Given the description of an element on the screen output the (x, y) to click on. 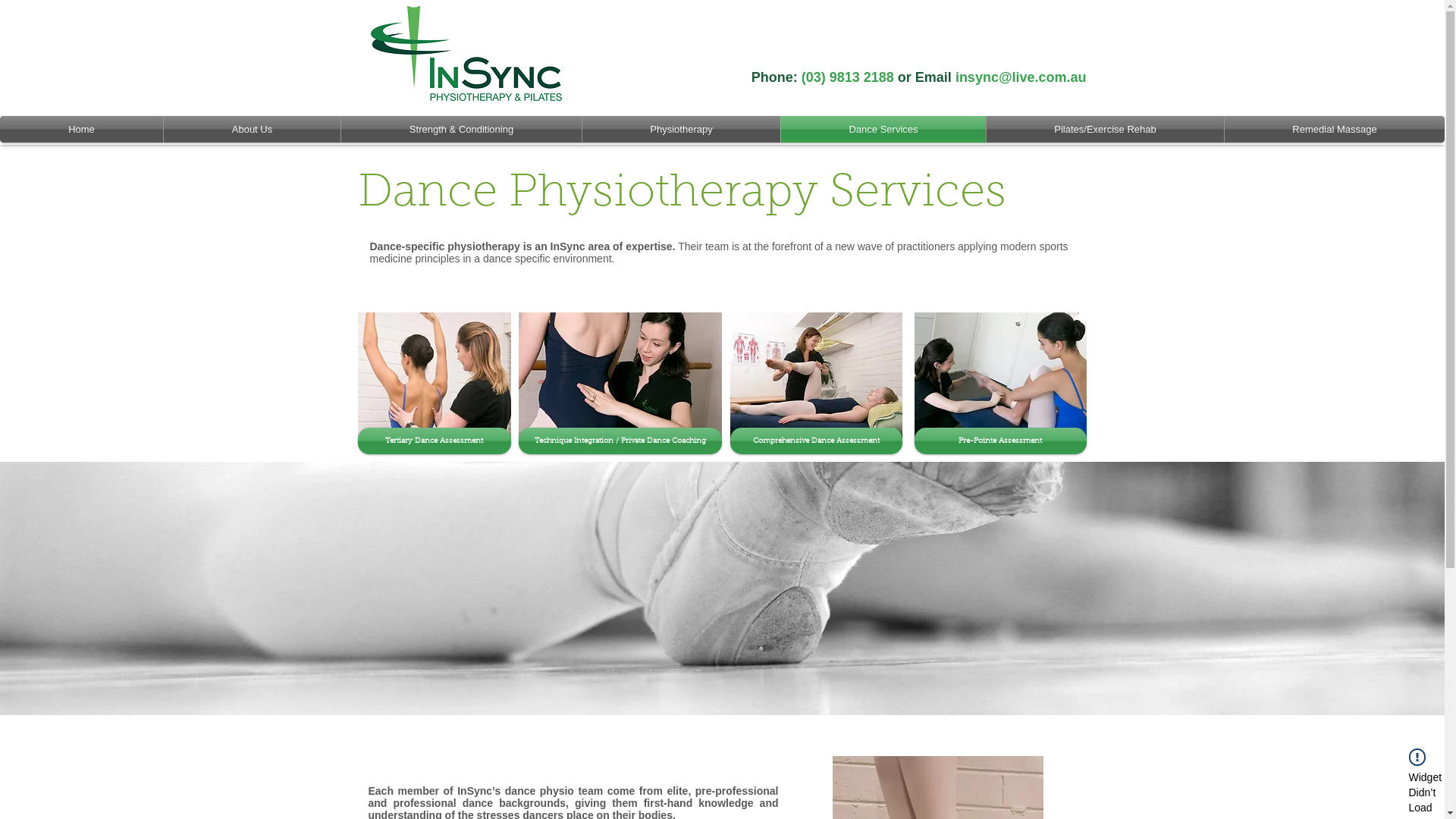
Remedial Massage Element type: text (1334, 129)
Physiotherapy Element type: text (681, 129)
Pre-Pointe Assessment Element type: text (1000, 440)
Home Element type: text (81, 129)
Technique Integration / Private Dance Coaching Element type: text (619, 440)
Comprehensive Dance Assessment Element type: text (815, 440)
Screen Shot 2013-08-12 at 11.22.07 AM.png Element type: hover (479, 56)
Dance Services Element type: text (883, 129)
Pilates/Exercise Rehab Element type: text (1104, 129)
Tertiary Dance Assessment Element type: text (434, 440)
Strength & Conditioning Element type: text (461, 129)
About Us Element type: text (251, 129)
insync@live.com.au Element type: text (1020, 76)
